Given the description of an element on the screen output the (x, y) to click on. 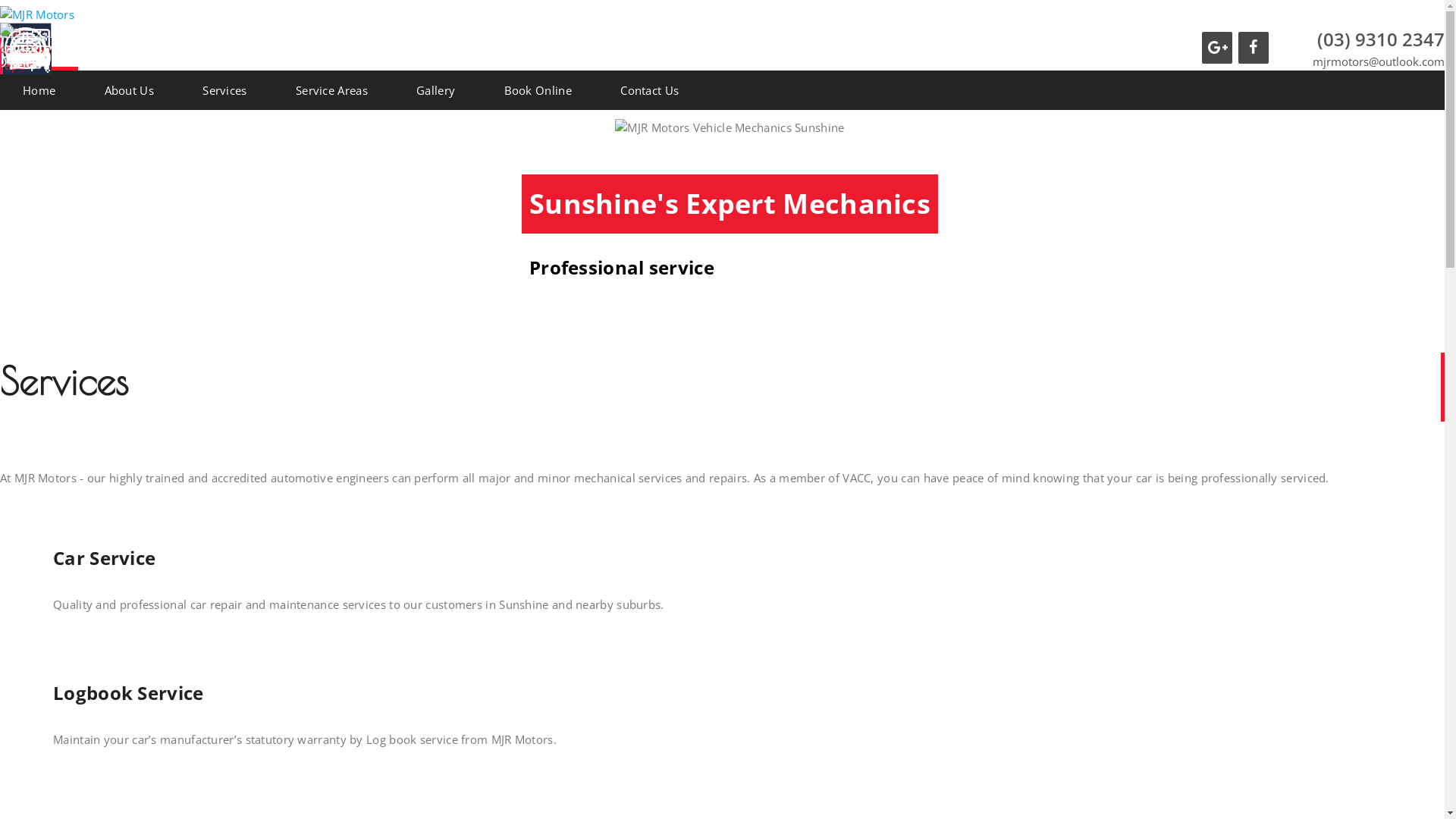
Services Element type: text (224, 89)
About Us Element type: text (128, 89)
Contact Us Element type: text (649, 89)
mjrmotors@outlook.com Element type: text (1378, 61)
Gallery Element type: text (435, 89)
Logbook Service Element type: text (128, 692)
Car Service Element type: text (104, 557)
(03) 9310 2347 Element type: text (1378, 39)
Home Element type: text (39, 89)
Service Areas Element type: text (331, 89)
Book Online Element type: text (537, 89)
Facebook Element type: hover (1253, 47)
Google+ Element type: hover (1216, 47)
